Given the description of an element on the screen output the (x, y) to click on. 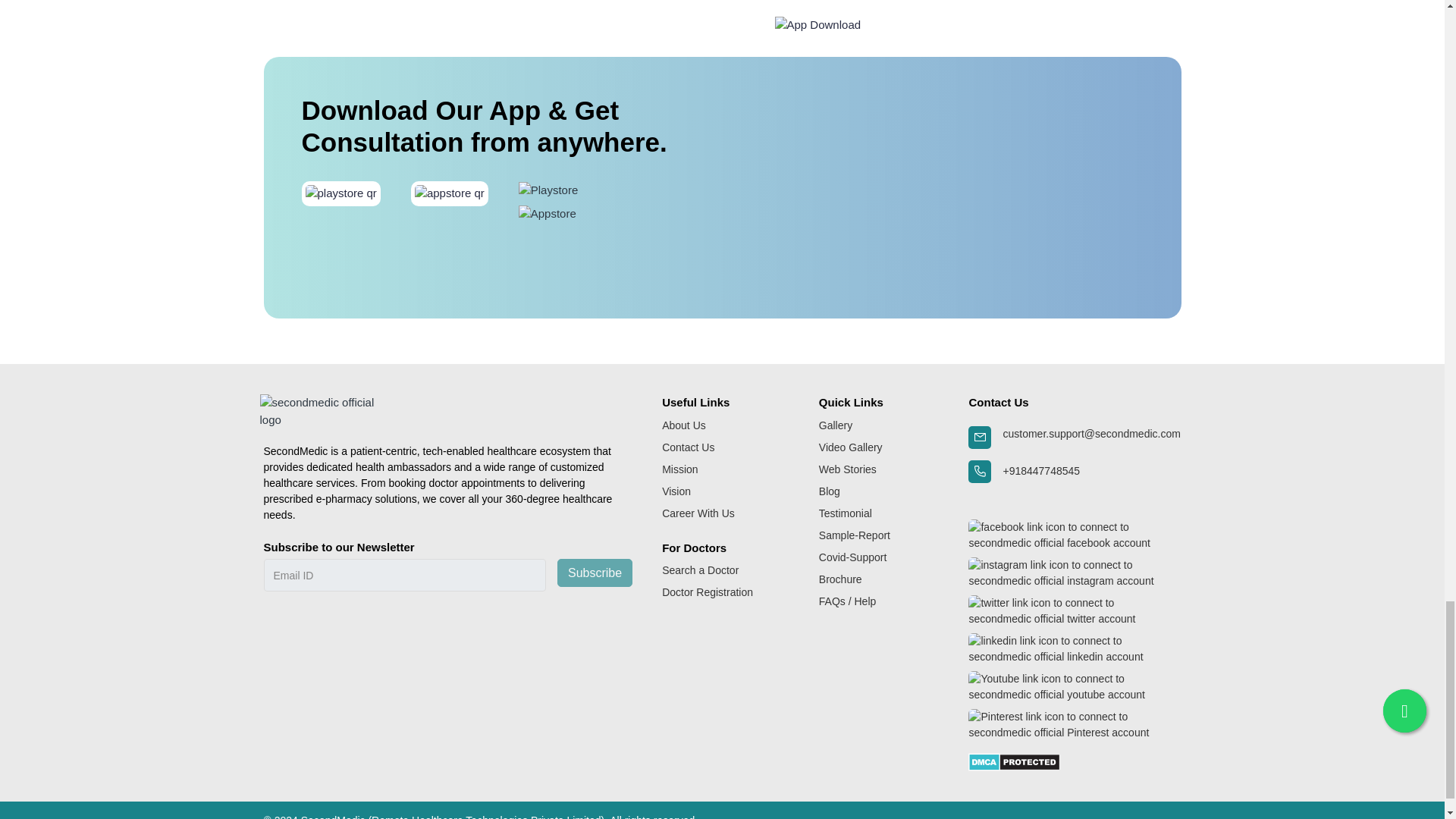
DMCA.com Protection Status (1013, 760)
Subscribe (594, 572)
